Given the description of an element on the screen output the (x, y) to click on. 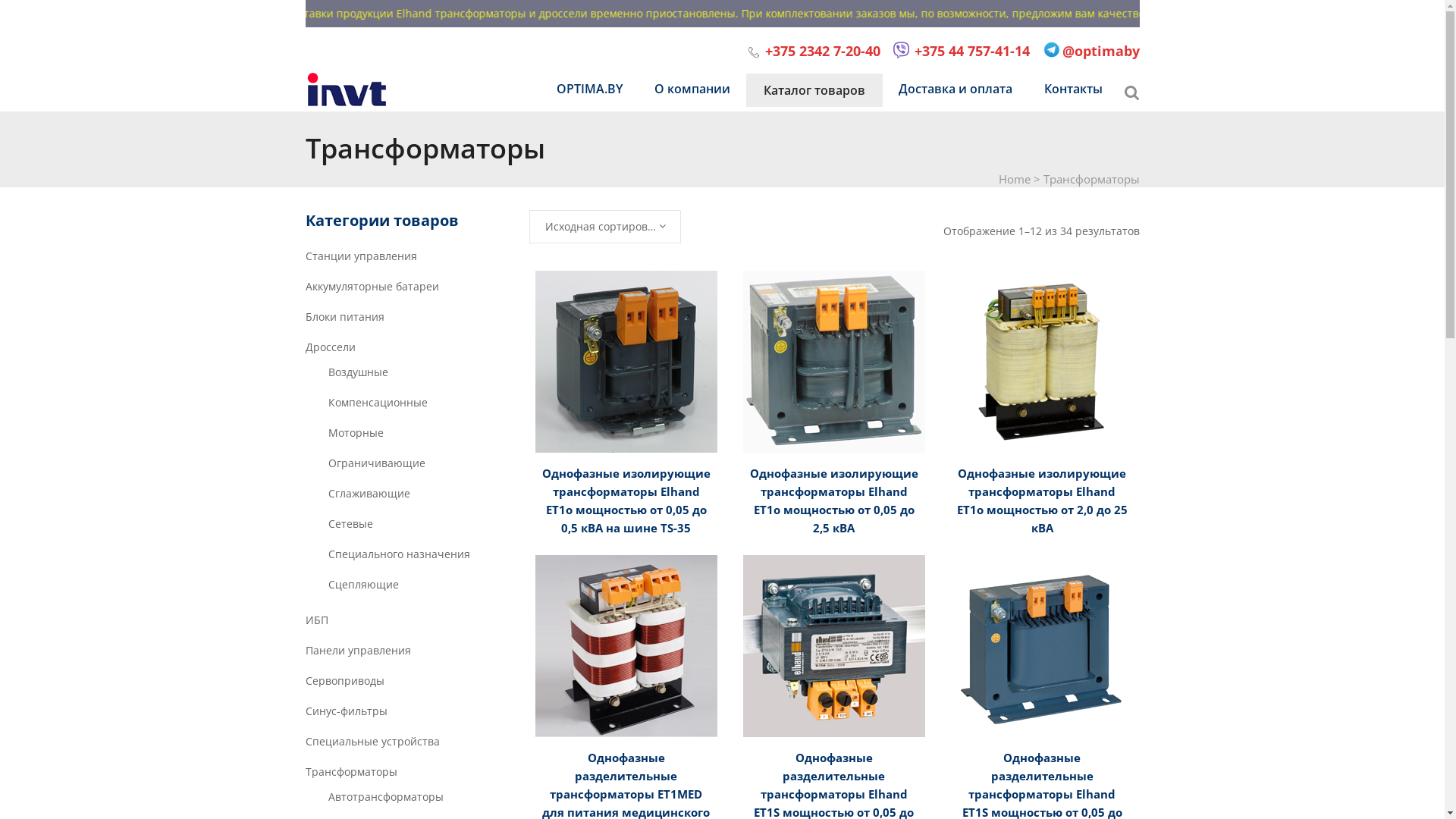
Jednofazowy_transformator_oddzielajacy_ET1S_1 Element type: hover (1041, 646)
Home Element type: text (1013, 178)
OPTIMA.BY Element type: text (588, 88)
Jednofazowy_transformator_separacyjny_ET1o_3 Element type: hover (1041, 361)
Jednofazowy_transformator_oddzielajacy_ET1S_na_szyne_TS35 Element type: hover (834, 646)
ET1o Element type: hover (834, 361)
